Given the description of an element on the screen output the (x, y) to click on. 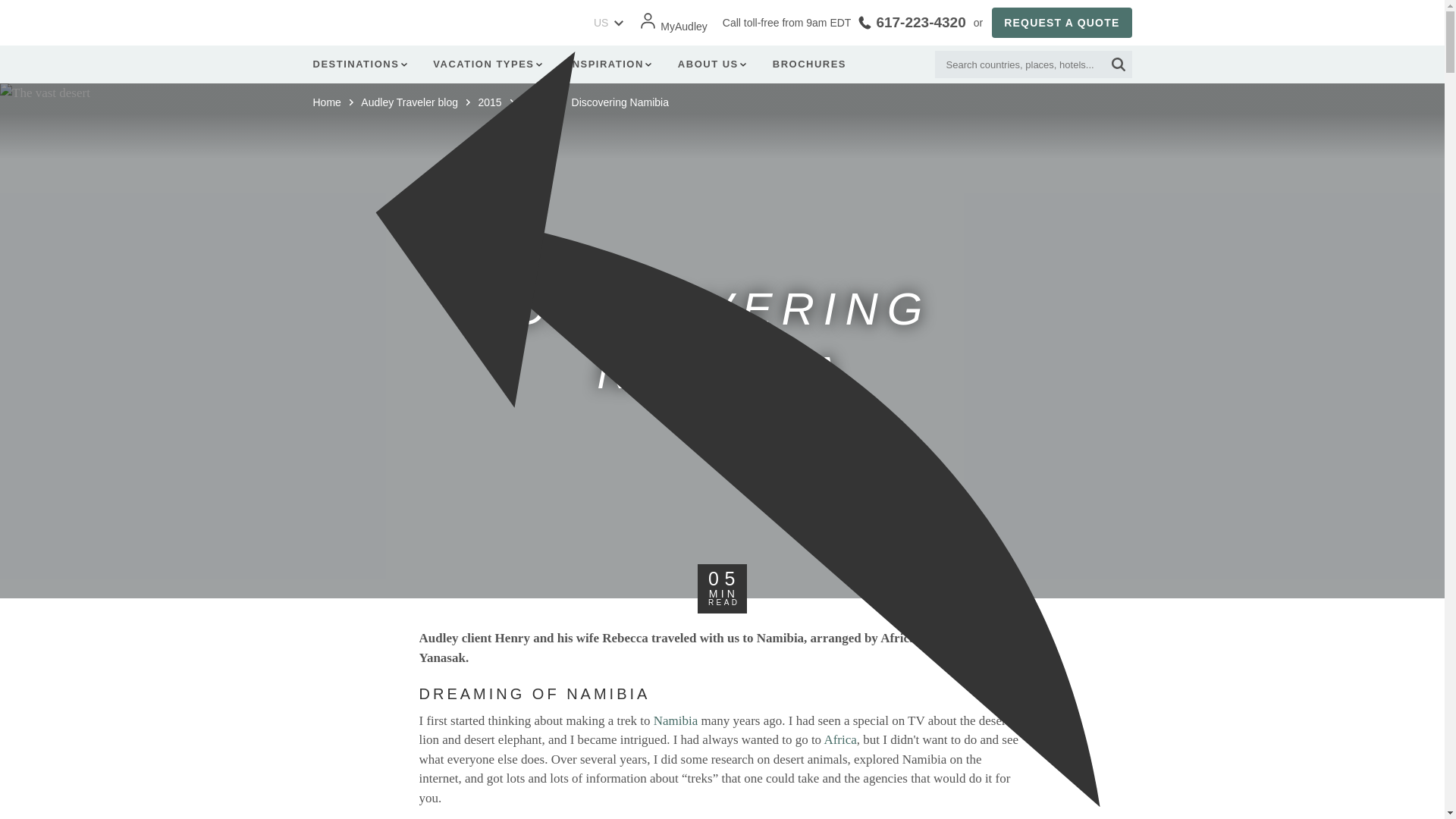
REQUEST A QUOTE (1061, 22)
DESTINATIONS (363, 64)
MyAudley (672, 26)
US (596, 22)
